Given the description of an element on the screen output the (x, y) to click on. 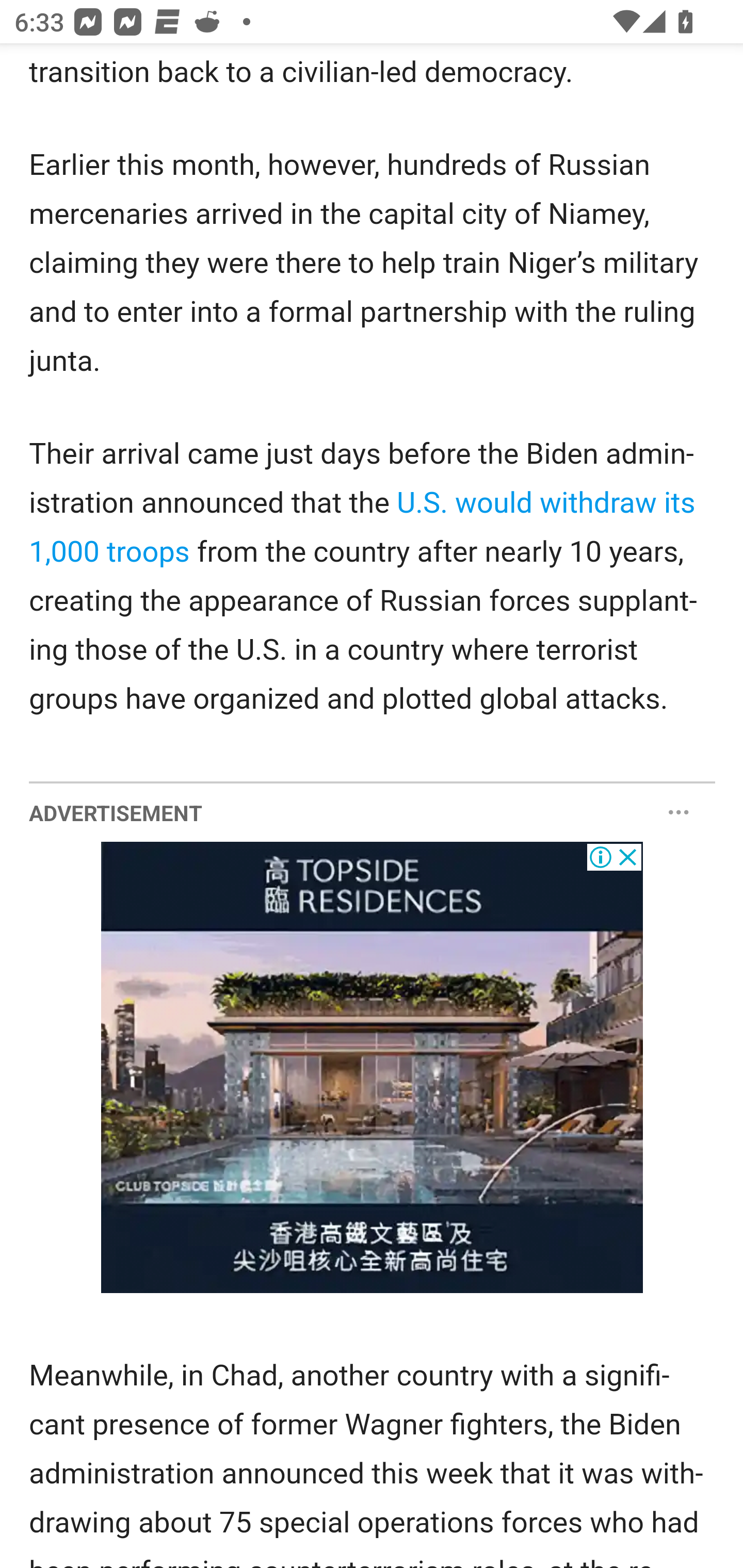
U.S. would withdraw its 1,000 troops (362, 527)
